Given the description of an element on the screen output the (x, y) to click on. 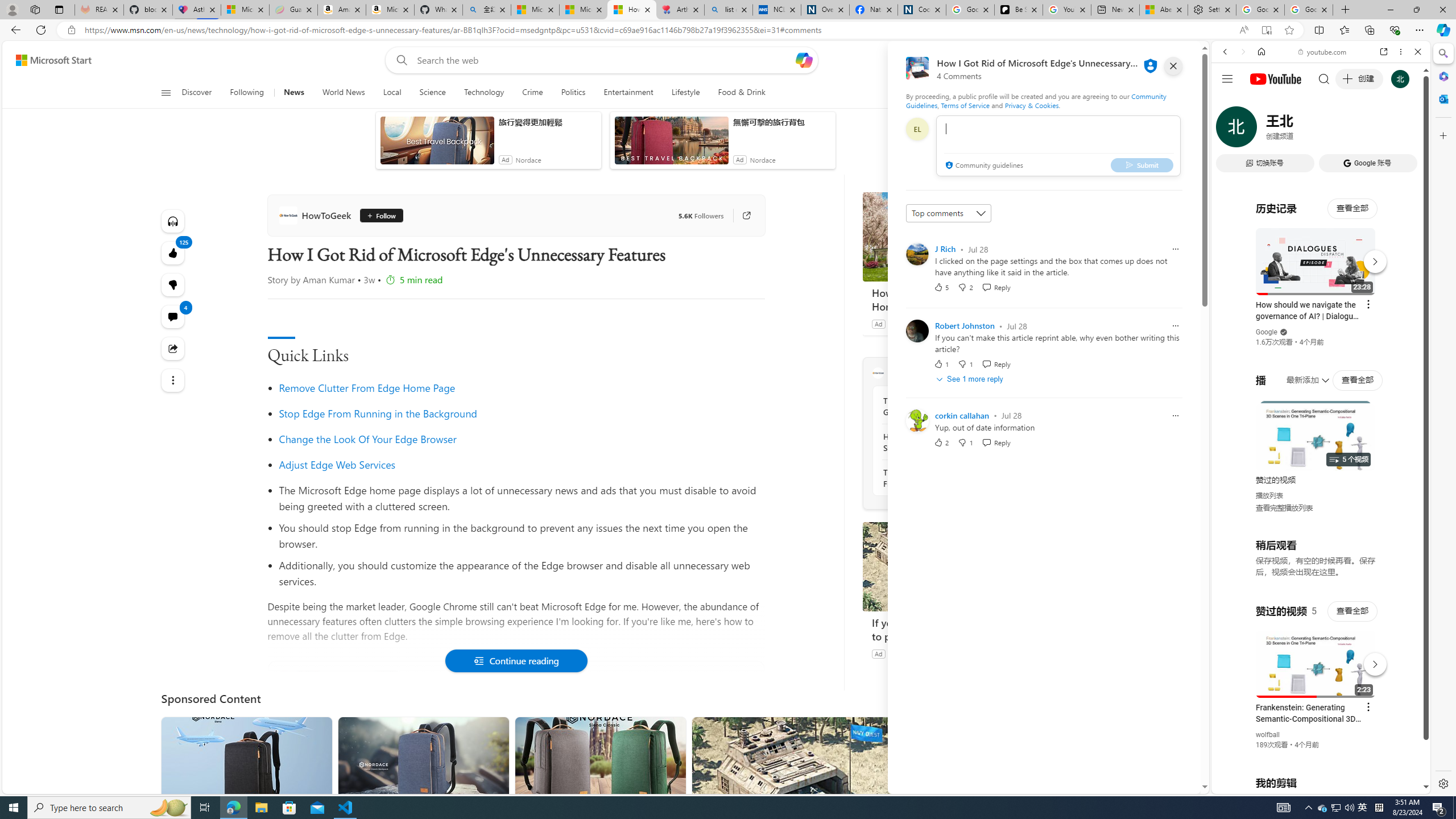
Google (1320, 281)
Restore (1416, 9)
HowToGeek (317, 215)
New Tab (1346, 9)
This site scope (1259, 102)
Submit (1141, 164)
2 Like (940, 441)
Add this page to favorites (Ctrl+D) (1289, 29)
If you have a mouse, you have to play this game. (947, 566)
Arthritis: Ask Health Professionals (679, 9)
Home (1261, 51)
Preferences (1403, 129)
